Given the description of an element on the screen output the (x, y) to click on. 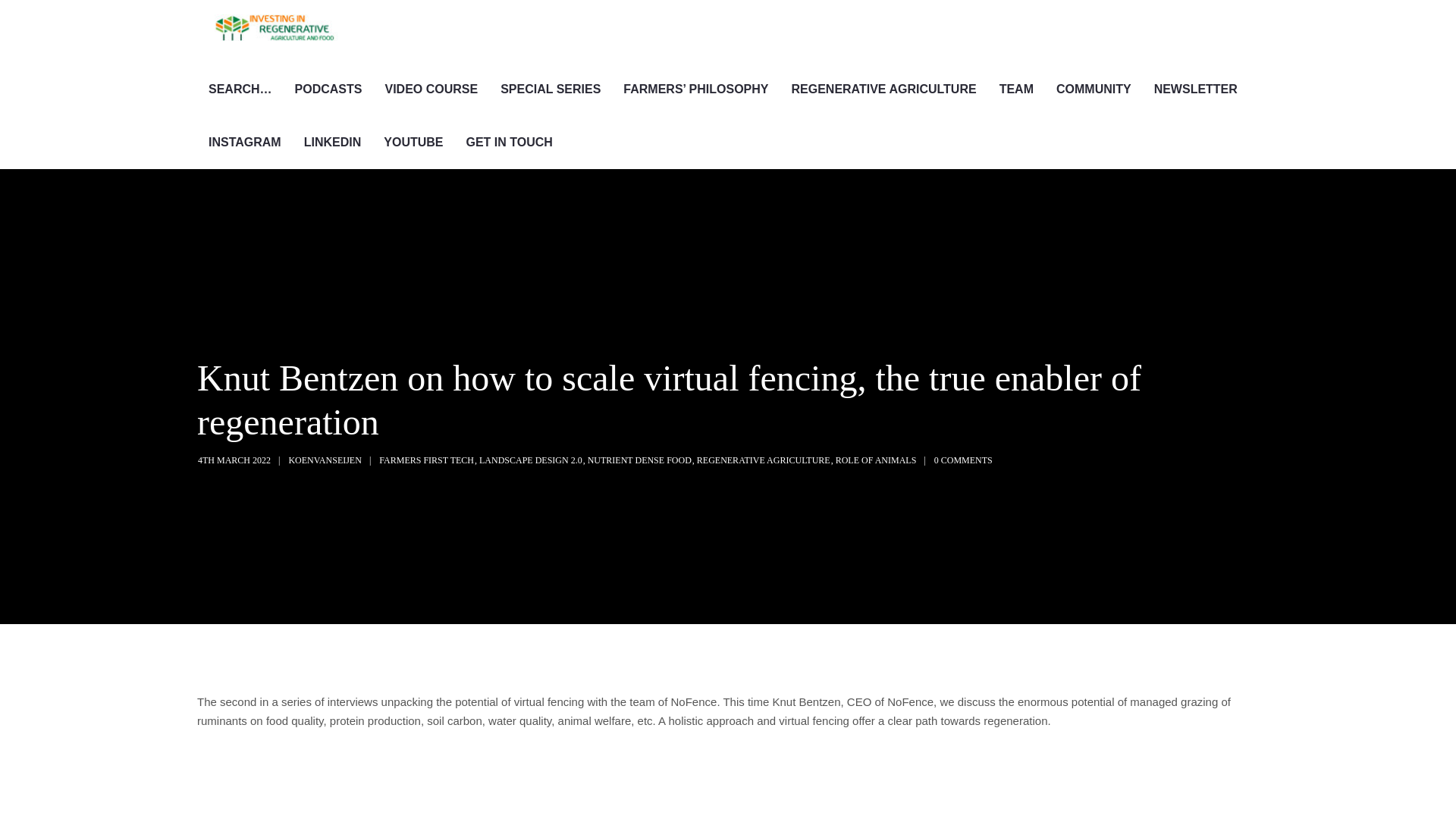
VIDEO COURSE (430, 89)
SPECIAL SERIES (550, 89)
PODCASTS (328, 89)
